Given the description of an element on the screen output the (x, y) to click on. 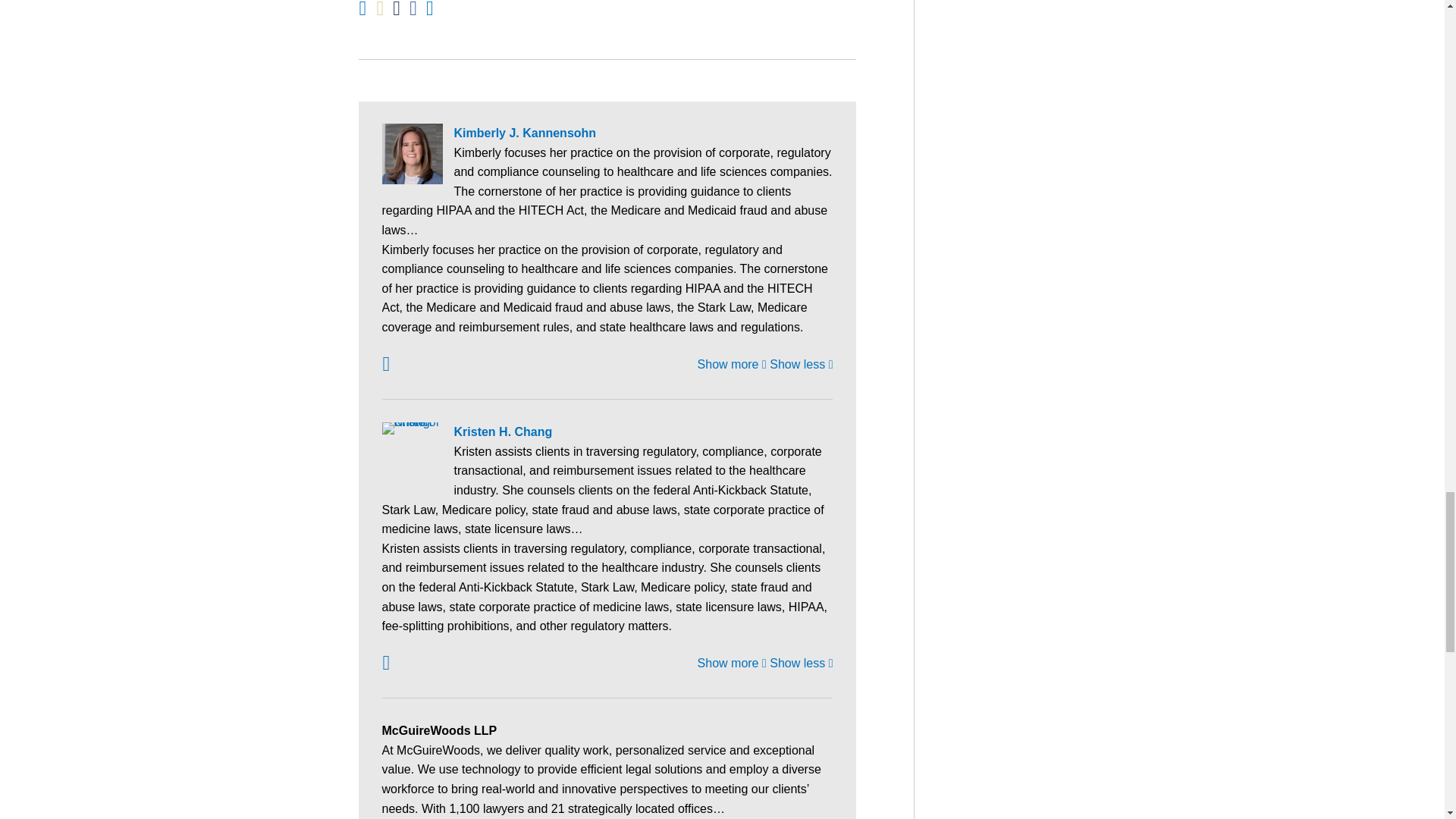
Show less (801, 364)
Show more (732, 364)
Kimberly J. Kannensohn (606, 133)
Kristen H. Chang (606, 432)
